Given the description of an element on the screen output the (x, y) to click on. 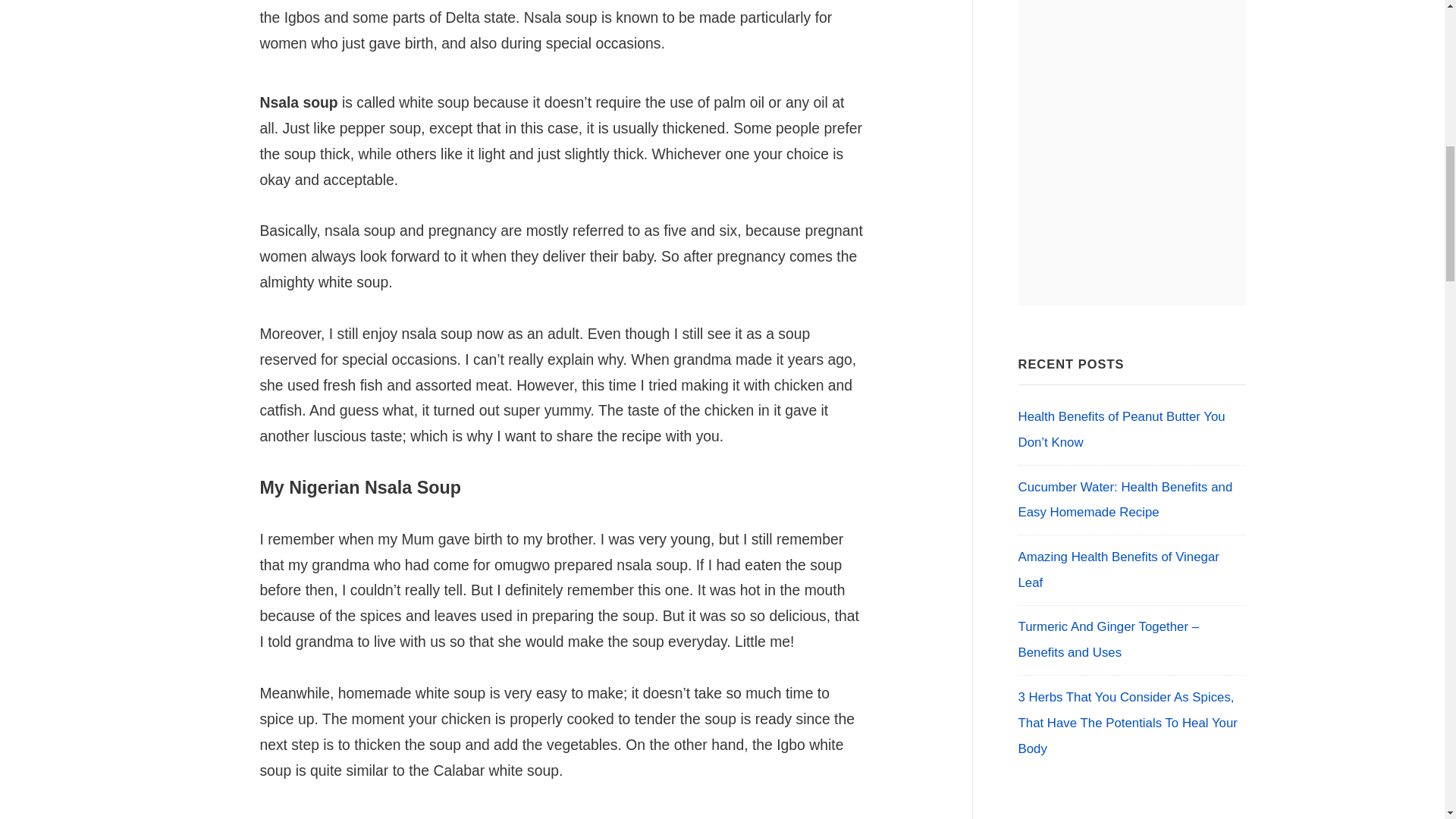
Cucumber Water: Health Benefits and Easy Homemade Recipe (1124, 499)
Amazing Health Benefits of Vinegar Leaf (1117, 569)
